Given the description of an element on the screen output the (x, y) to click on. 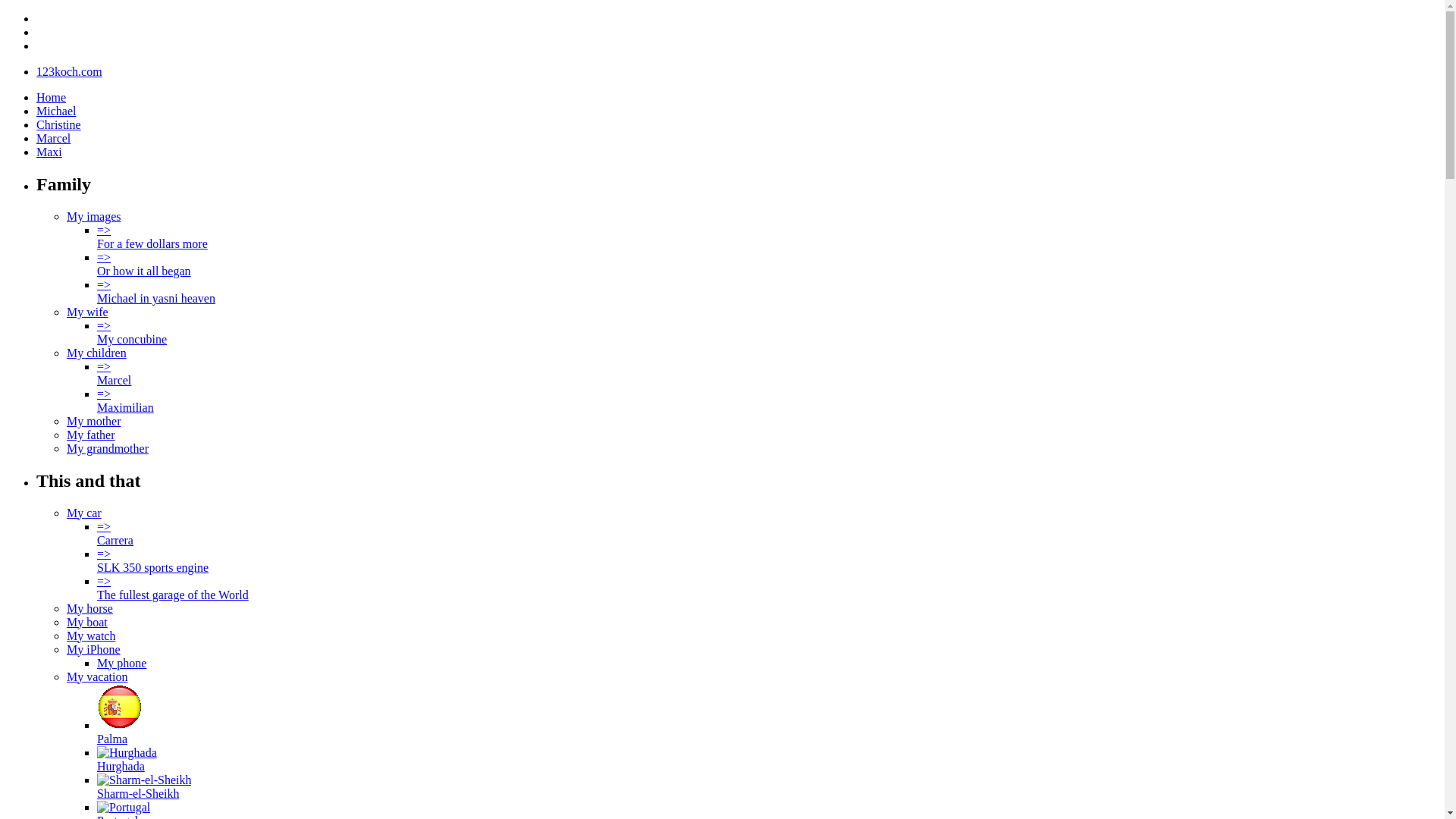
=>
Michael in yasni heaven Element type: text (156, 291)
My wife Element type: text (87, 311)
Portugal Element type: hover (123, 807)
=>
For a few dollars more Element type: text (152, 236)
My images Element type: text (93, 216)
My iPhone Element type: text (93, 649)
=>
The fullest garage of the World Element type: text (172, 587)
123koch.com Element type: text (69, 71)
=>
Marcel Element type: text (114, 373)
Marcel Element type: text (53, 137)
=>
My concubine Element type: text (131, 332)
My children Element type: text (96, 352)
=>
Carrera Element type: text (115, 533)
=>
Maximilian Element type: text (125, 400)
My horse Element type: text (89, 608)
Christine Element type: text (58, 124)
My watch Element type: text (90, 635)
=>
SLK 350 sports engine Element type: text (152, 560)
Sharm-el-Sheikh Element type: hover (144, 780)
=>
Or how it all began Element type: text (144, 264)
My phone Element type: text (121, 662)
My boat Element type: text (86, 621)
Palma Element type: hover (119, 706)
My mother Element type: text (93, 420)
Michael Element type: text (55, 110)
My car Element type: text (83, 512)
Palma Element type: text (119, 731)
Home Element type: text (50, 97)
My grandmother Element type: text (107, 448)
Sharm-el-Sheikh Element type: text (144, 786)
Maxi Element type: text (49, 151)
Hurghada Element type: hover (126, 752)
My vacation Element type: text (96, 676)
My father Element type: text (90, 434)
Hurghada Element type: text (126, 759)
